Given the description of an element on the screen output the (x, y) to click on. 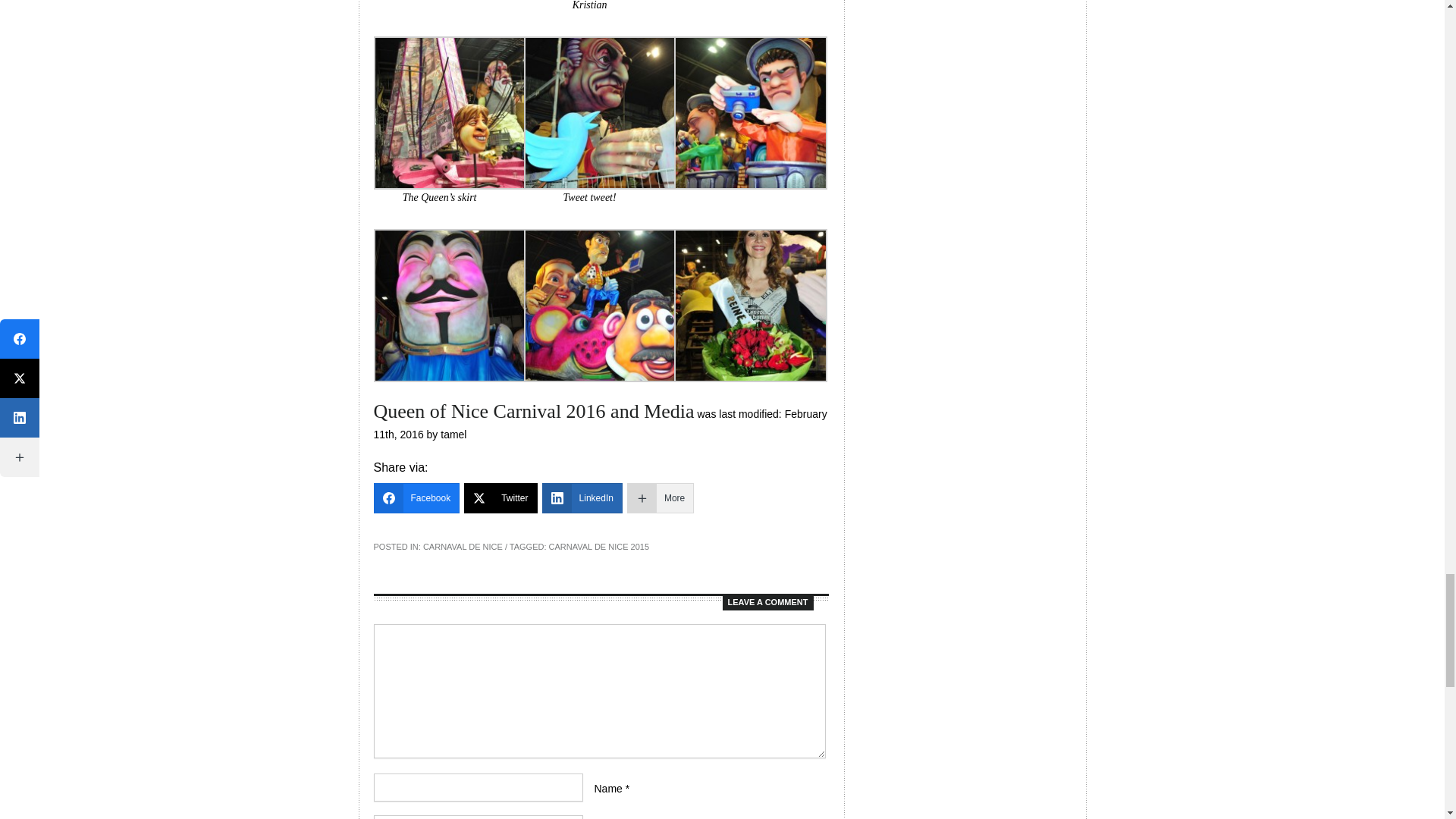
More (660, 498)
Facebook (416, 498)
Twitter (500, 498)
CARNAVAL DE NICE (462, 546)
LinkedIn (582, 498)
CARNAVAL DE NICE 2015 (598, 546)
